Given the description of an element on the screen output the (x, y) to click on. 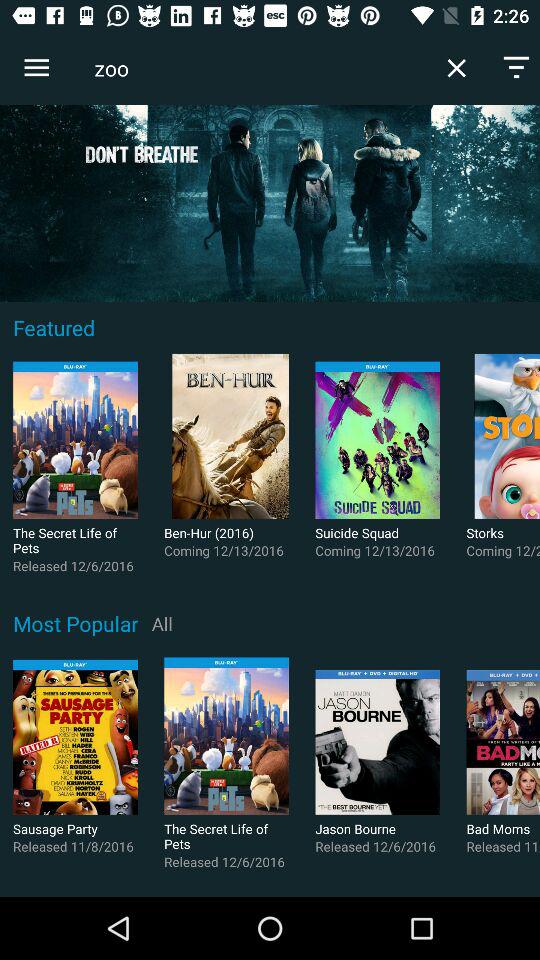
flip until zoo icon (257, 67)
